Given the description of an element on the screen output the (x, y) to click on. 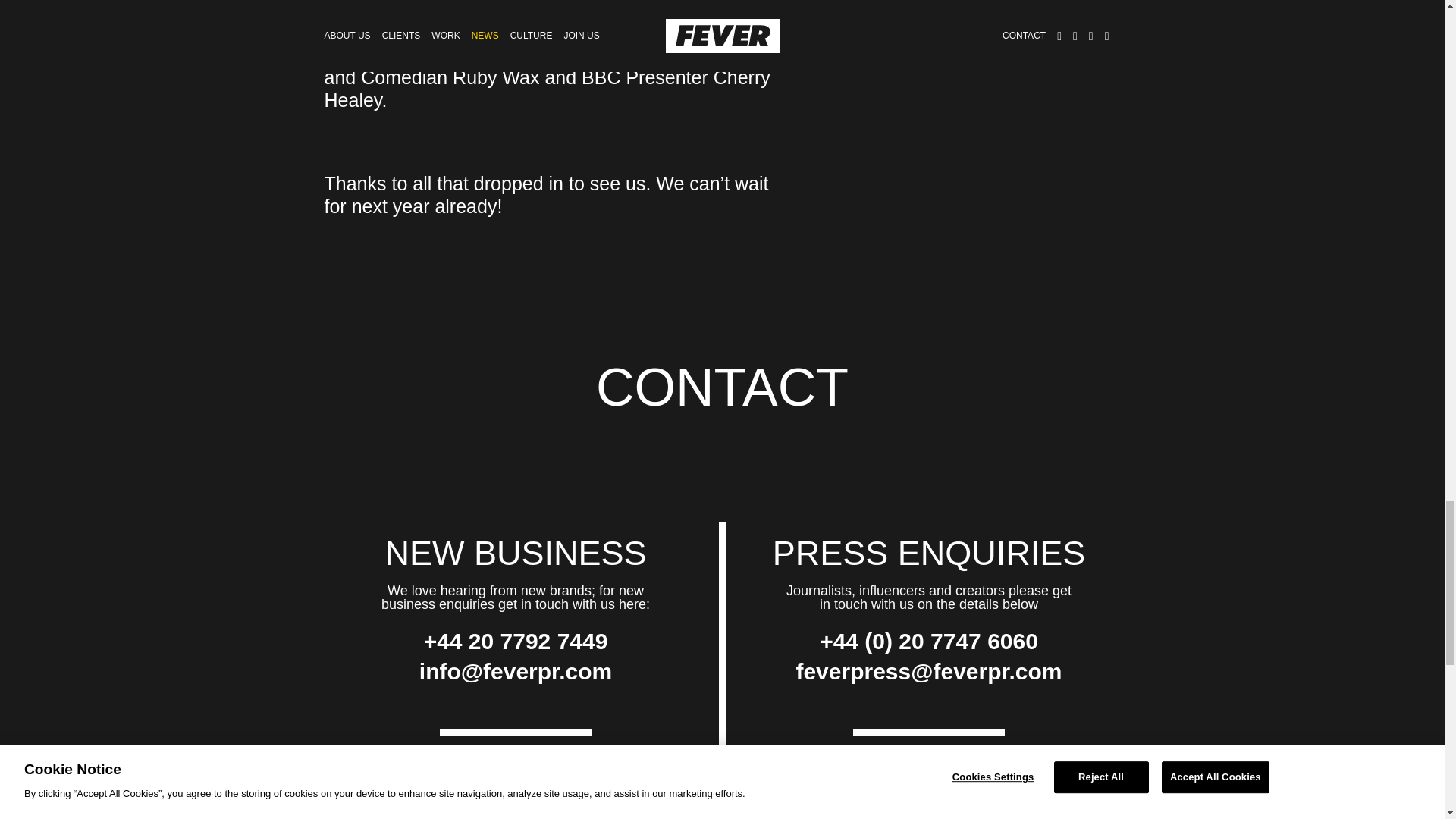
BritMums Live! (386, 31)
